Given the description of an element on the screen output the (x, y) to click on. 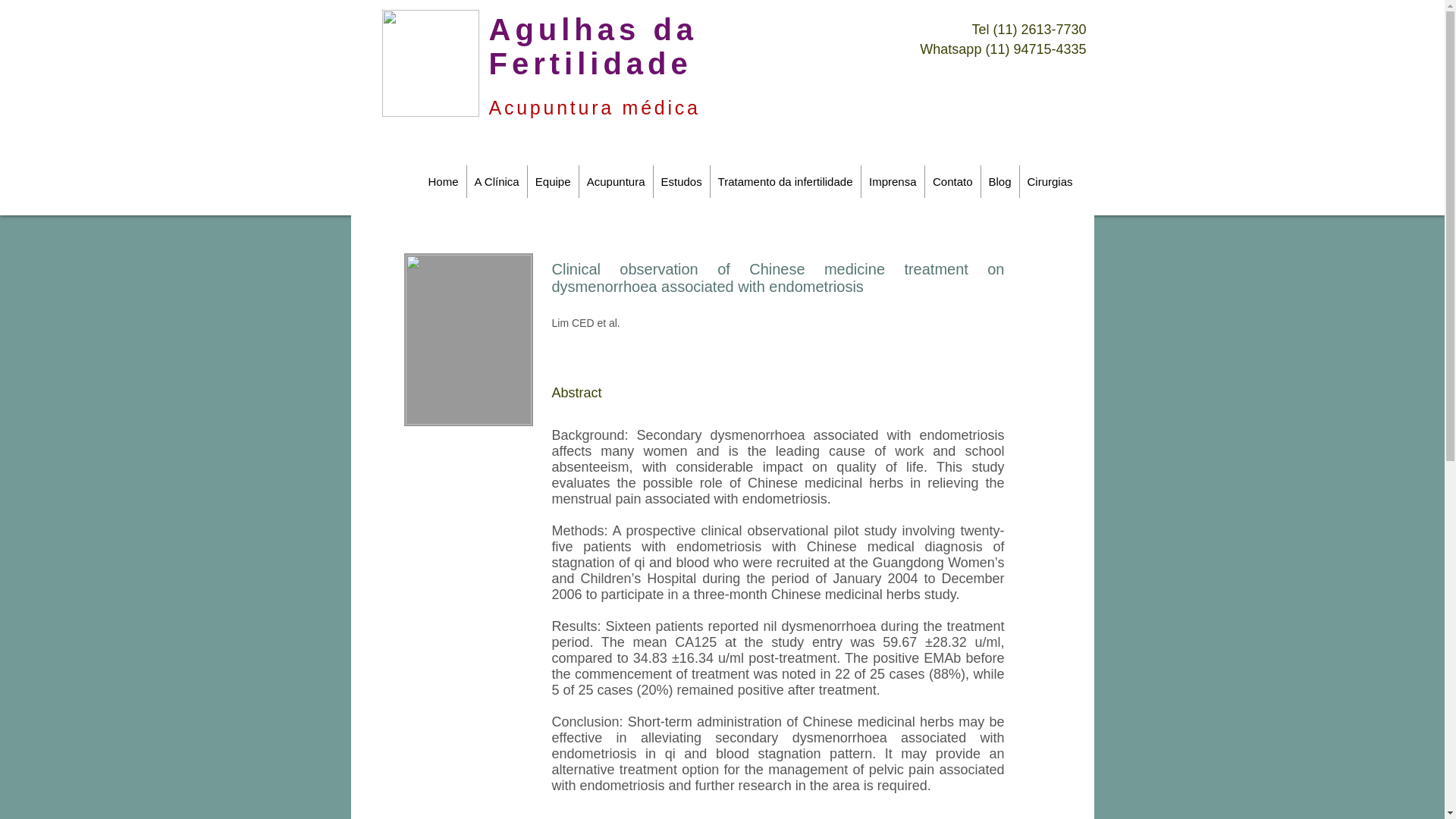
Equipe (552, 181)
Home (442, 181)
Agulhas da Fertilidade (592, 46)
Estudos (681, 181)
Tratamento da infertilidade (785, 181)
Acupuntura (615, 181)
